Given the description of an element on the screen output the (x, y) to click on. 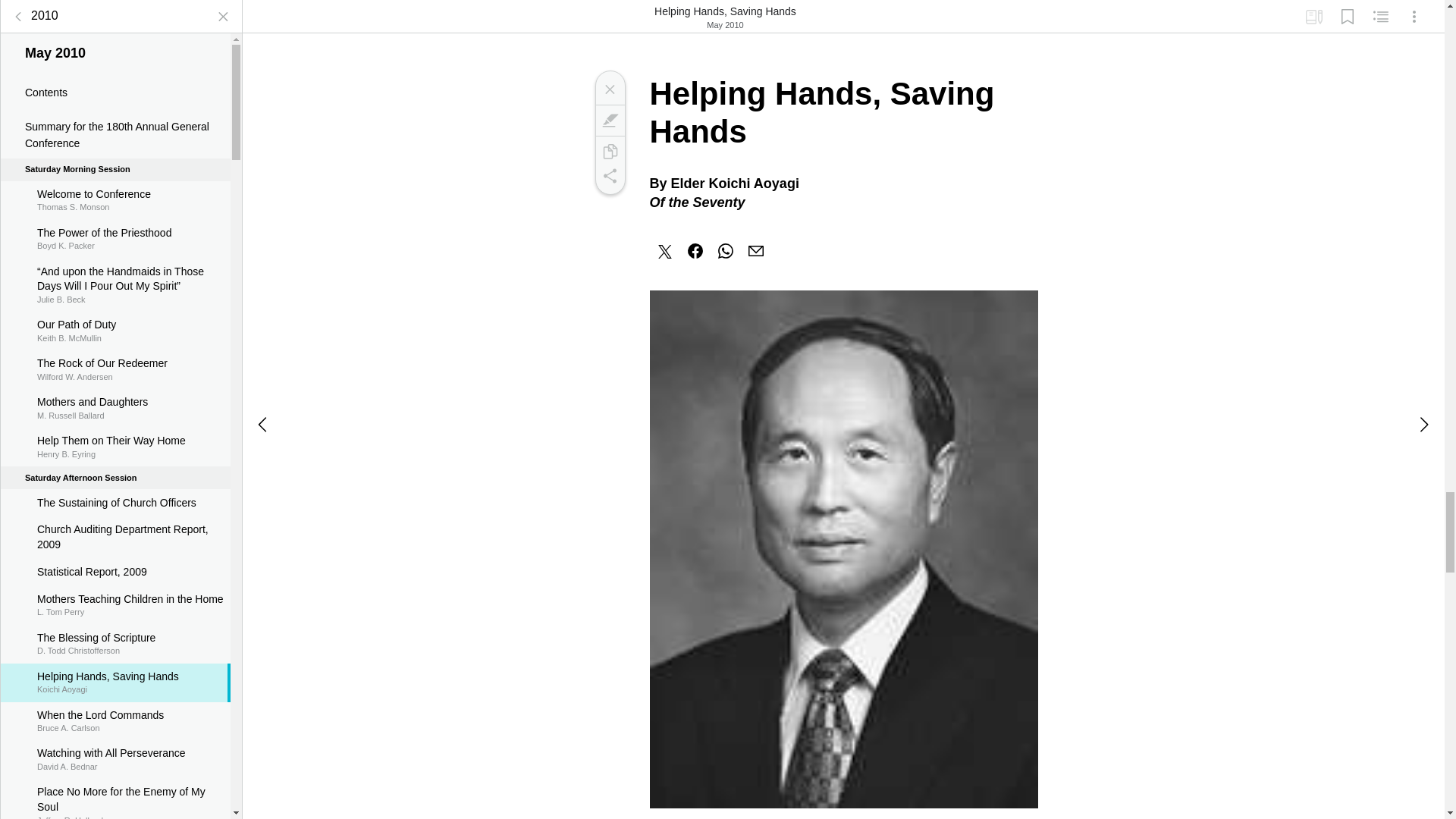
Summary for the 180th Annual General Conference (115, 358)
Statistical Report, 2009 (115, 747)
The Sustaining of Church Officers (115, 123)
Mark (115, 188)
Close (115, 671)
Share (115, 560)
2010 (115, 396)
Bookmarks (115, 709)
